Given the description of an element on the screen output the (x, y) to click on. 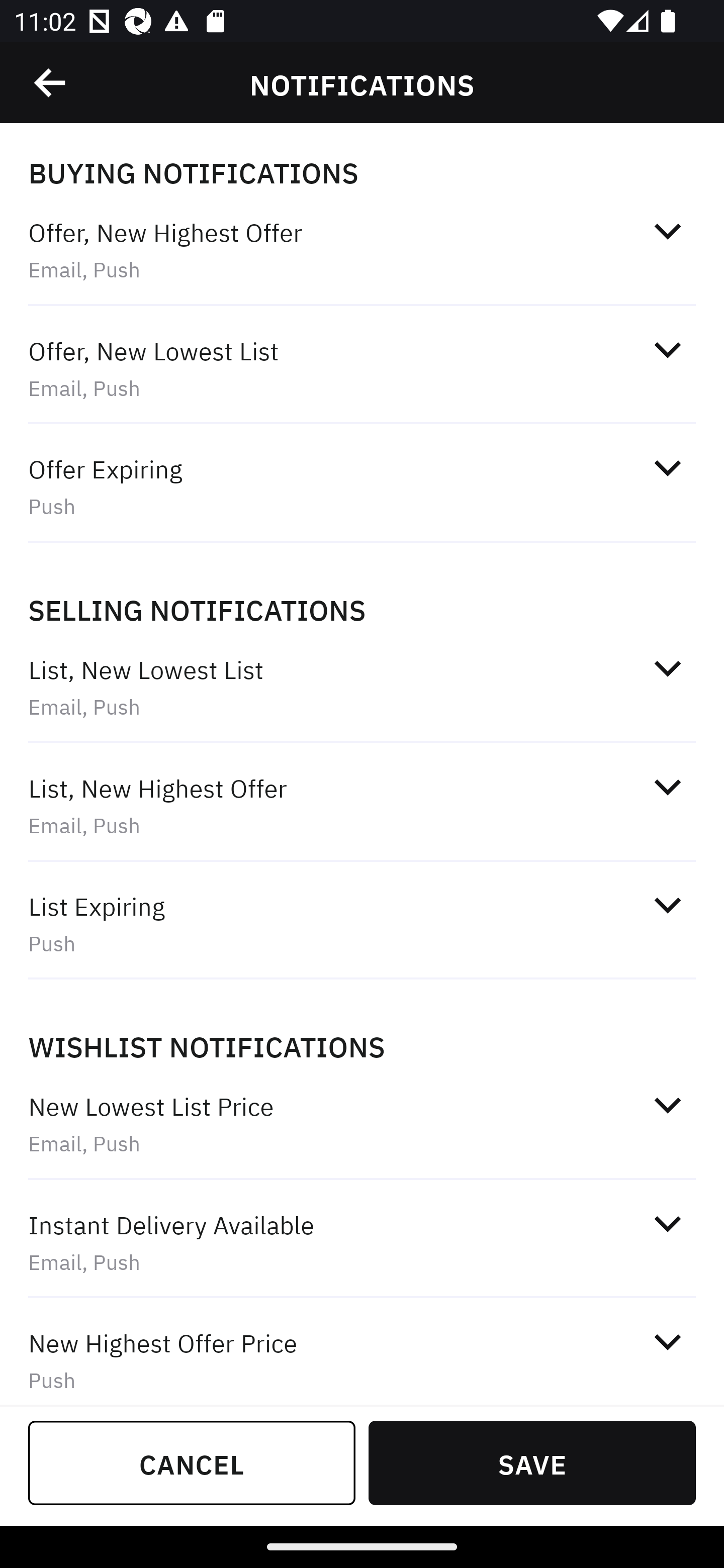
 (50, 83)
Offer, New Highest Offer  Email, Push (361, 249)
 (667, 231)
Offer, New Lowest List  Email, Push (361, 368)
 (667, 350)
Offer Expiring  Push (361, 486)
 (667, 467)
List, New Lowest List  Email, Push (361, 687)
 (667, 668)
List, New Highest Offer  Email, Push (361, 805)
 (667, 787)
List Expiring  Push (361, 924)
 (667, 905)
New Lowest List Price  Email, Push (361, 1123)
 (667, 1104)
Instant Delivery Available  Email, Push (361, 1242)
 (667, 1223)
New Highest Offer Price  Push (361, 1352)
 (667, 1341)
CANCEL (191, 1462)
SAVE (531, 1462)
